Given the description of an element on the screen output the (x, y) to click on. 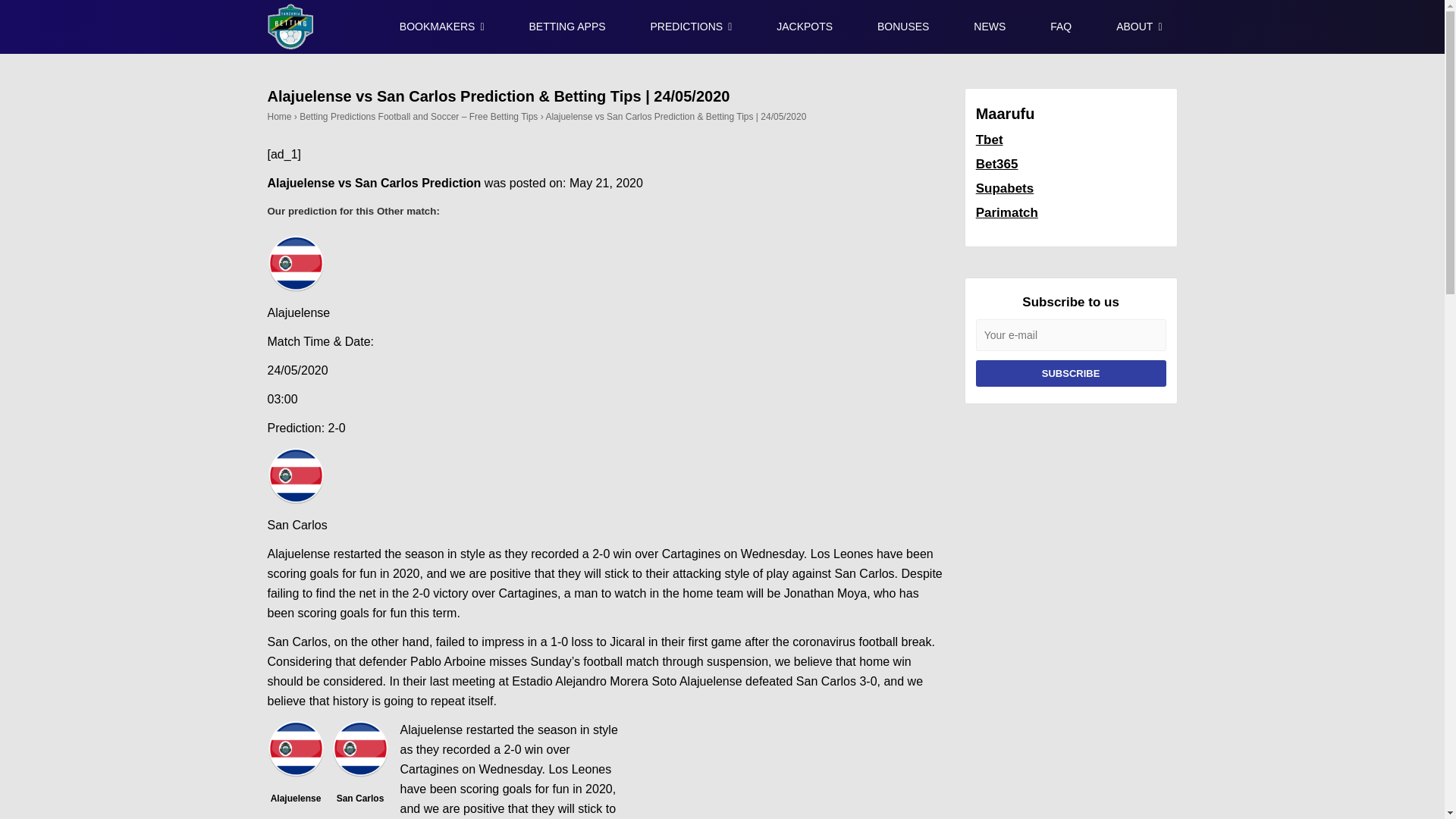
BOOKMAKERS (441, 27)
JACKPOTS (804, 26)
Home (278, 116)
BETTING APPS (566, 26)
BONUSES (902, 26)
Tbet (989, 139)
PREDICTIONS (690, 27)
NEWS (989, 26)
Bet365 (996, 164)
FAQ (1060, 26)
ABOUT (1138, 27)
